Given the description of an element on the screen output the (x, y) to click on. 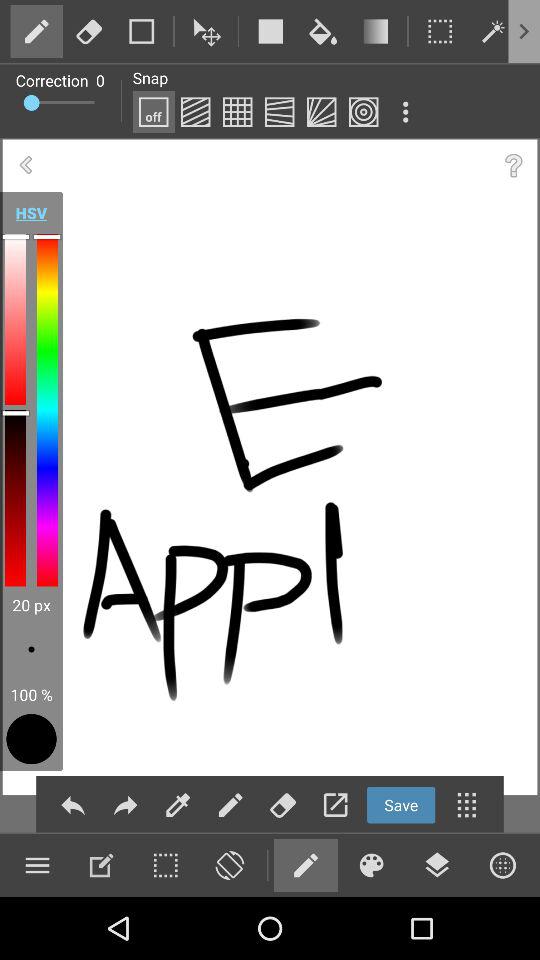
open menu (405, 112)
